Given the description of an element on the screen output the (x, y) to click on. 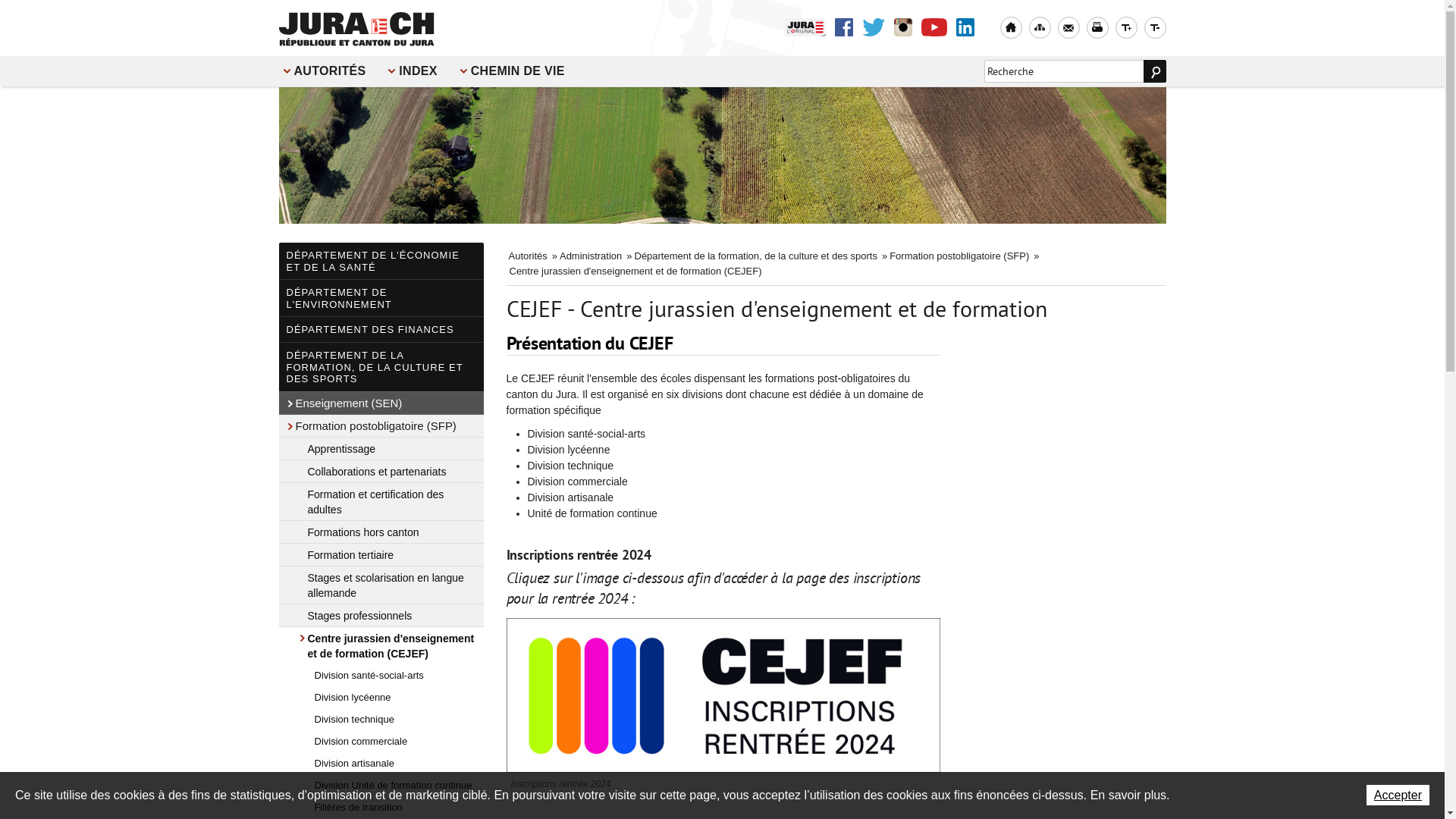
Apprentissage Element type: text (381, 448)
Division artisanale Element type: text (381, 763)
INDEX Element type: text (413, 71)
Collaborations et partenariats Element type: text (381, 471)
CHEMIN DE VIE Element type: text (513, 71)
Stages et scolarisation en langue allemande Element type: text (381, 584)
Formation postobligatoire (SFP) Element type: text (381, 425)
Division commerciale Element type: text (381, 741)
Formation tertiaire Element type: text (381, 554)
Formations hors canton Element type: text (381, 531)
Stages professionnels Element type: text (381, 615)
Division technique Element type: text (381, 719)
Enseignement (SEN) Element type: text (381, 403)
Centre jurassien d'enseignement et de formation (CEJEF) Element type: text (381, 645)
Administration Element type: text (591, 255)
Accepter Element type: text (1397, 794)
Formation postobligatoire (SFP) Element type: text (960, 255)
Formation et certification des adultes Element type: text (381, 501)
